Given the description of an element on the screen output the (x, y) to click on. 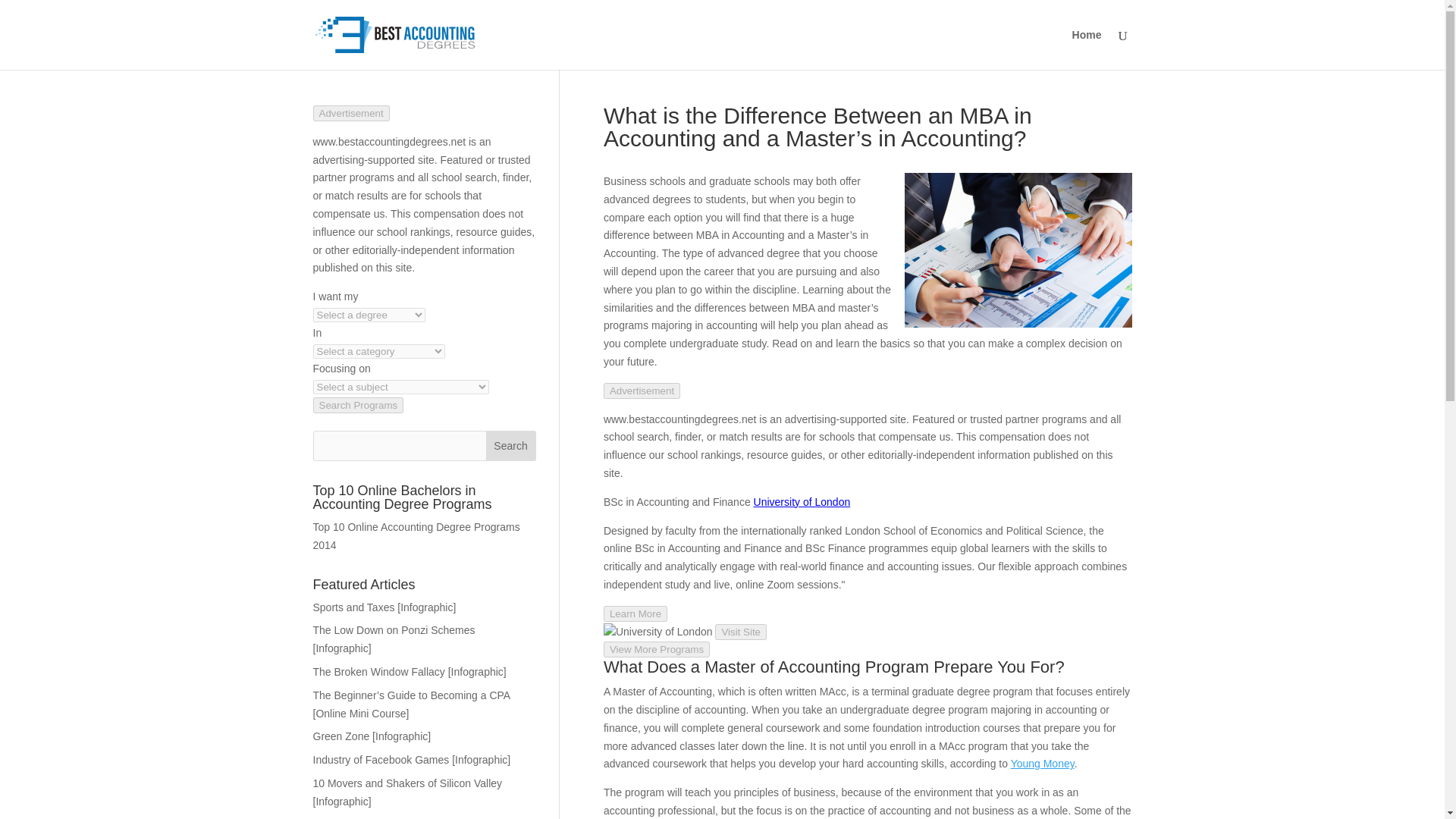
Search (510, 445)
Top 10 Online Accounting Degree Programs 2014 (416, 535)
Young Money (1042, 763)
